Given the description of an element on the screen output the (x, y) to click on. 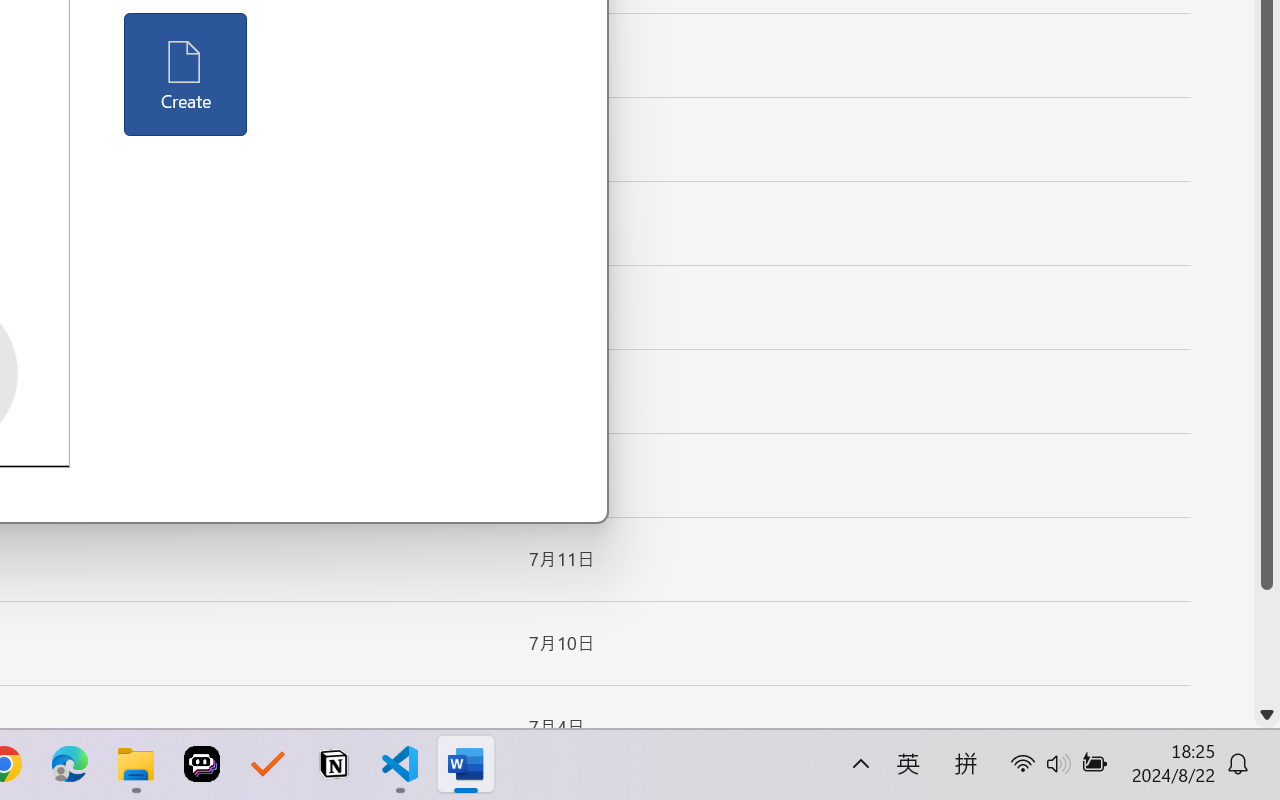
Create (185, 74)
Pin this item to the list (480, 727)
Line down (1267, 715)
Page down (1267, 646)
